Given the description of an element on the screen output the (x, y) to click on. 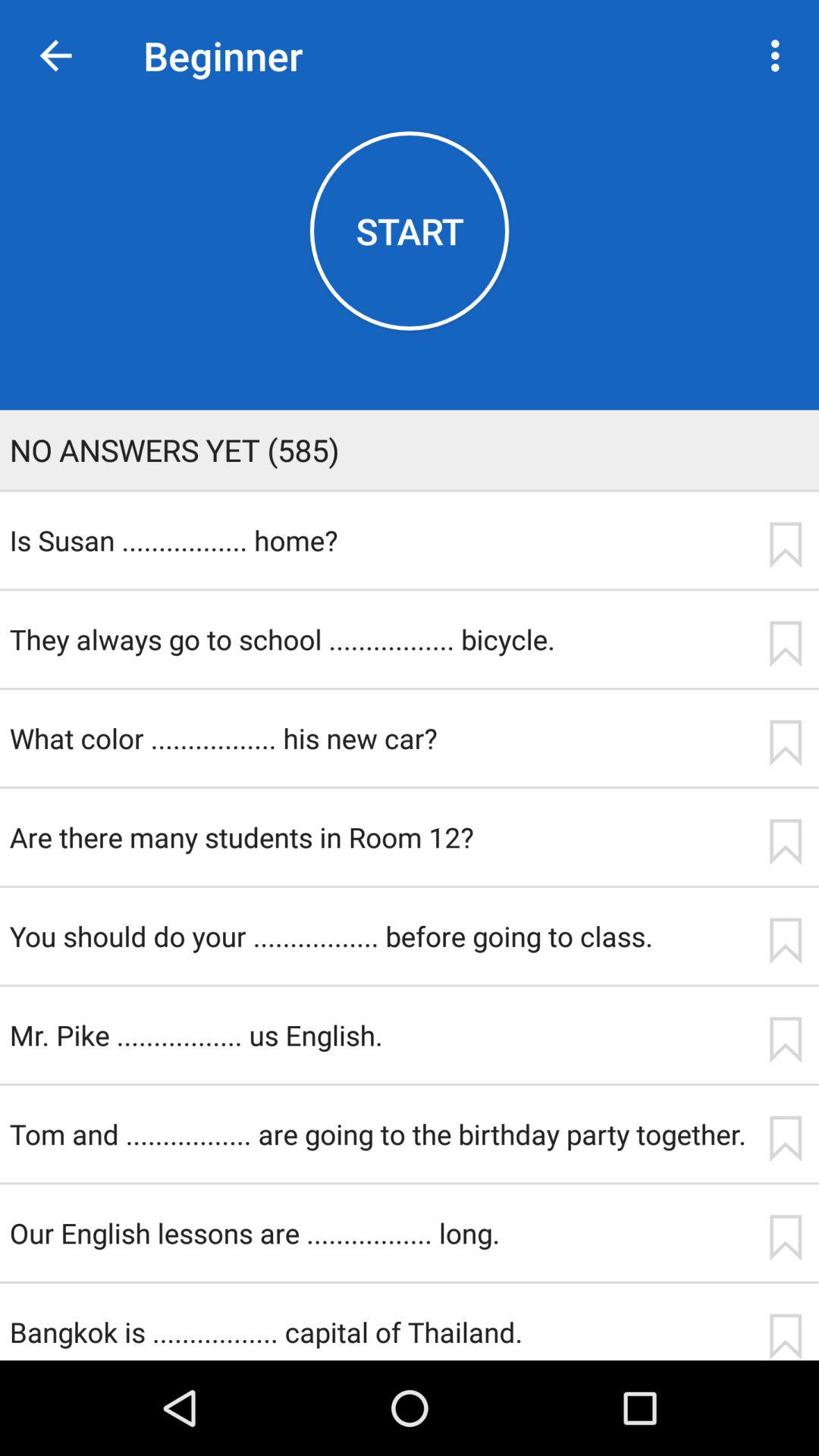
press item to the right of the tom and are item (784, 1138)
